Given the description of an element on the screen output the (x, y) to click on. 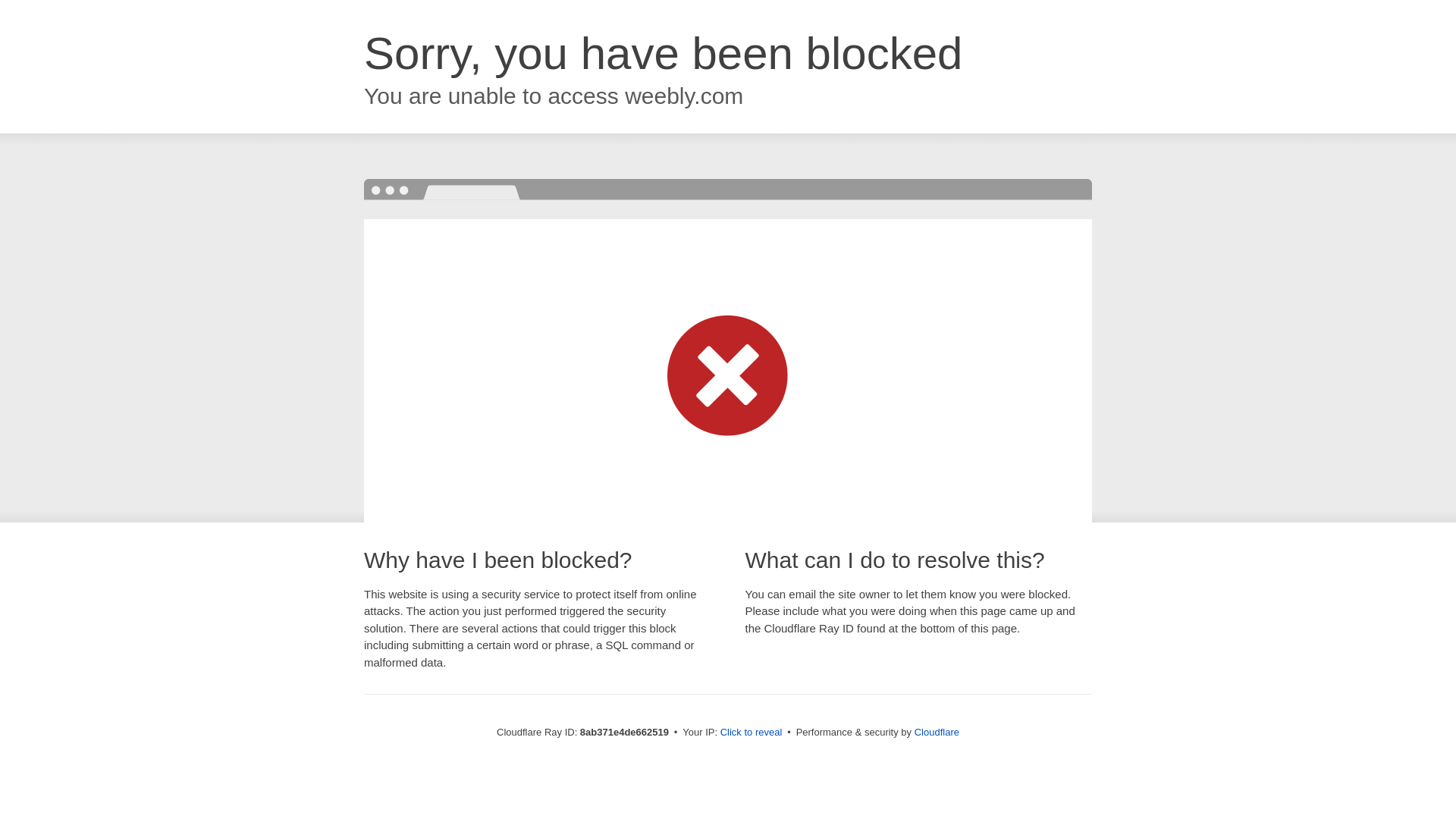
Click to reveal (751, 732)
Cloudflare (936, 731)
